Given the description of an element on the screen output the (x, y) to click on. 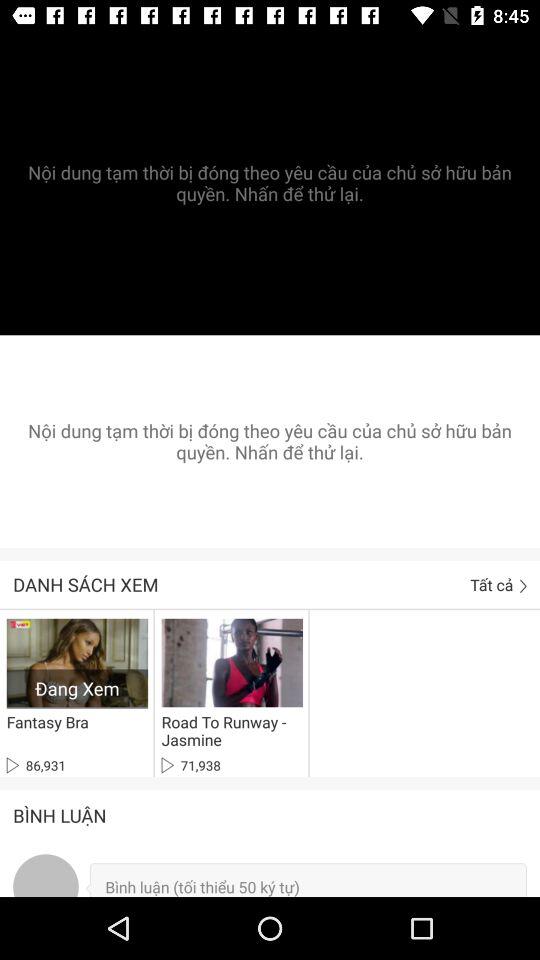
tap the item above the 71,938 item (228, 731)
